Given the description of an element on the screen output the (x, y) to click on. 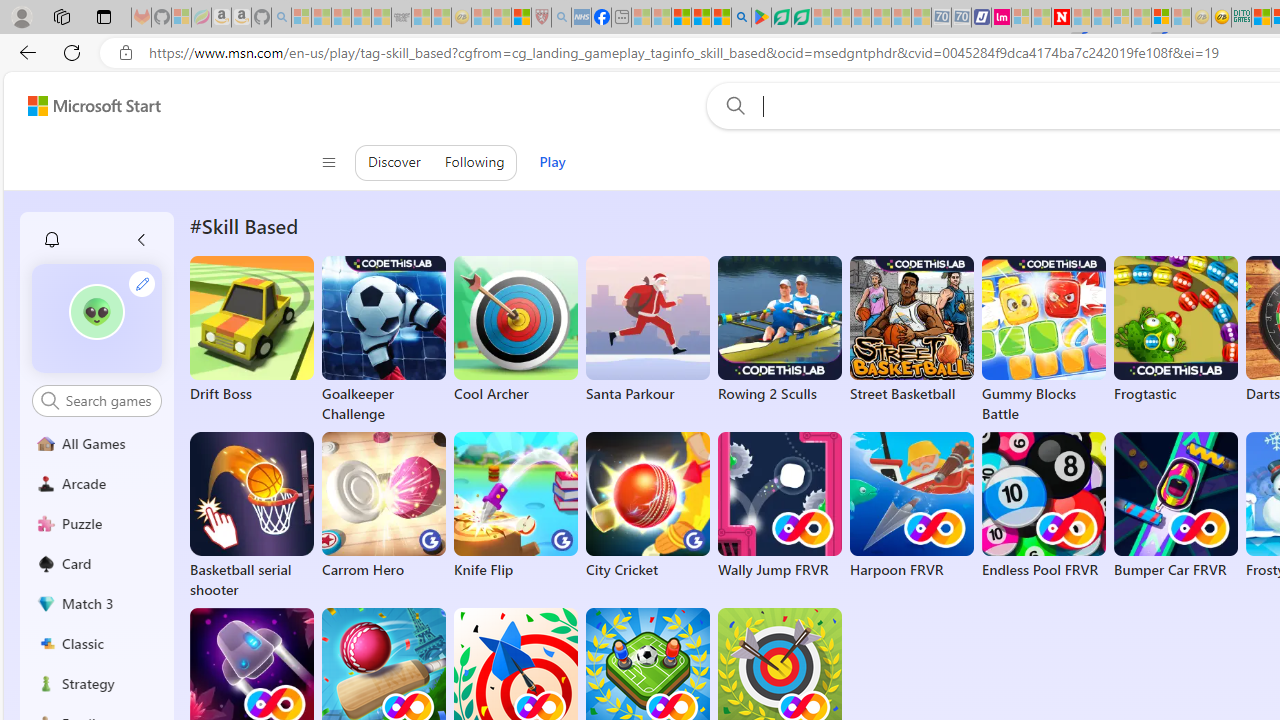
Microsoft Word - consumer-privacy address update 2.2021 (801, 17)
